Given the description of an element on the screen output the (x, y) to click on. 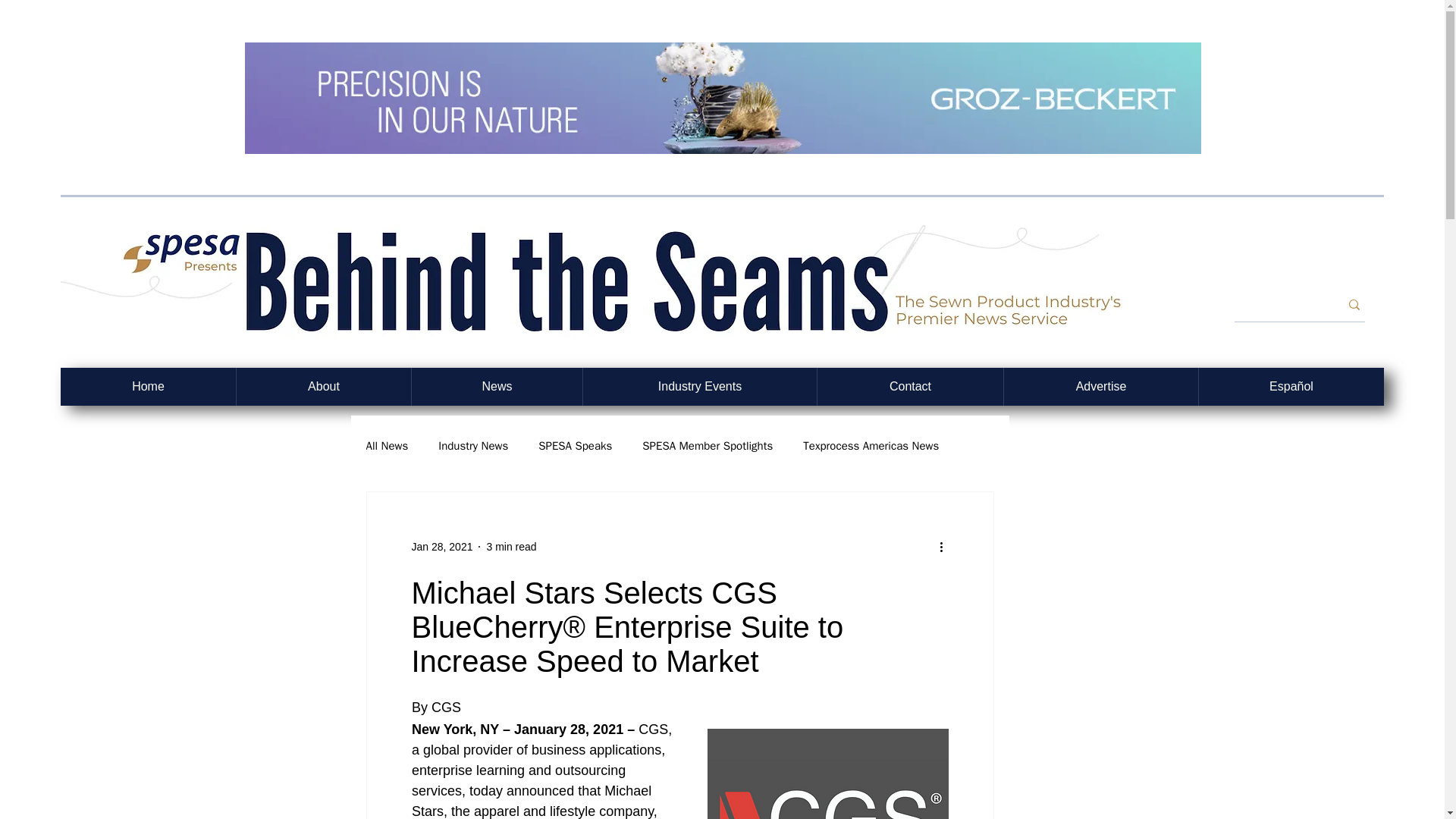
Industry Events (699, 386)
Contact (909, 386)
Advertise (1100, 386)
SPESA Member Spotlights (707, 445)
Industry News (473, 445)
Texprocess Americas News (871, 445)
Jan 28, 2021 (440, 545)
About (322, 386)
SPESA Speaks (574, 445)
Home (148, 386)
3 min read (510, 545)
All News (386, 445)
News (496, 386)
